Given the description of an element on the screen output the (x, y) to click on. 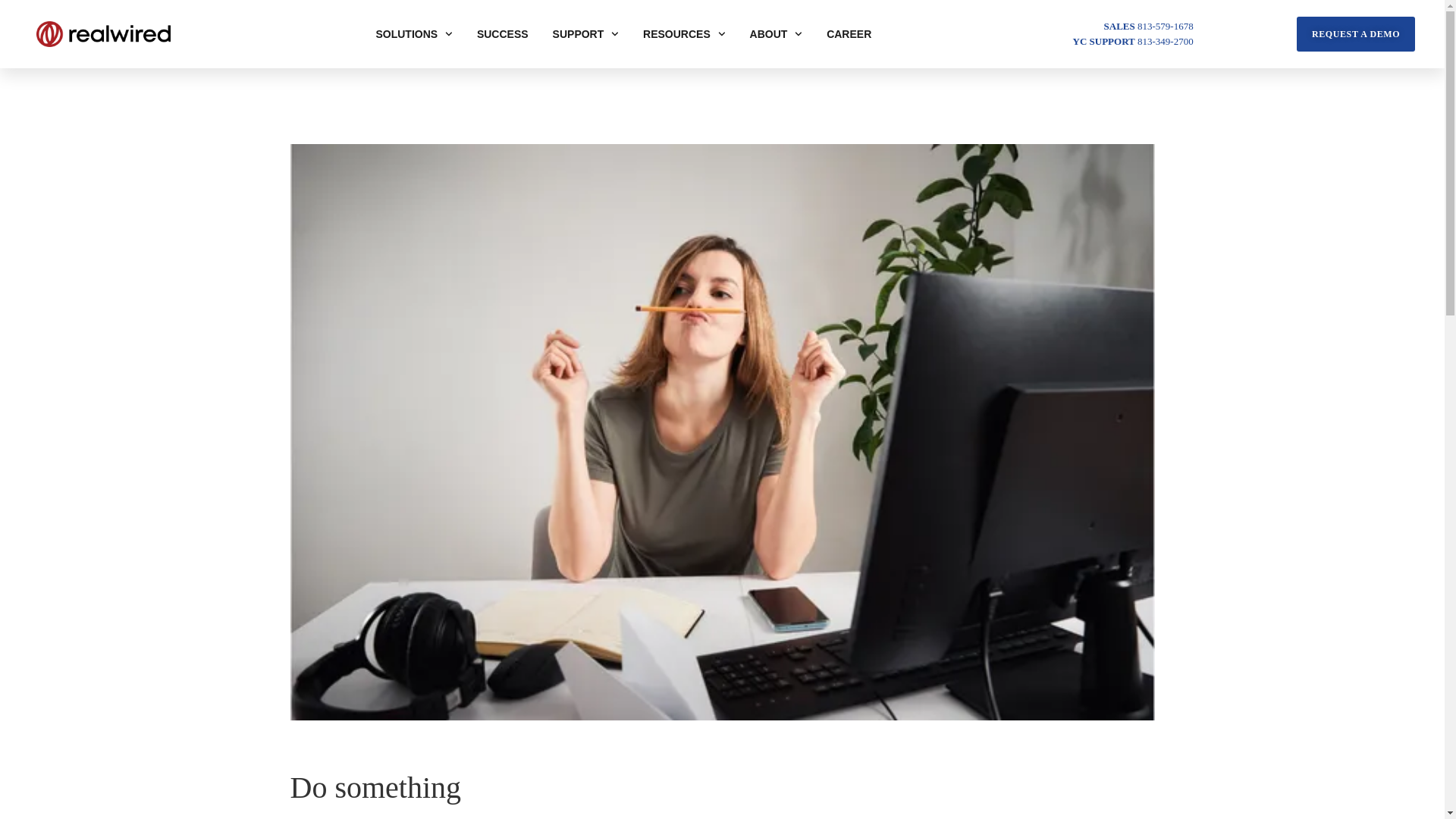
SOLUTIONS (413, 33)
SALES 813-579-1678 (1148, 26)
SUPPORT (585, 33)
SUCCESS (502, 33)
YC SUPPORT 813-349-2700 (1133, 41)
RESOURCES (684, 33)
CAREER (848, 33)
ABOUT (776, 33)
